Given the description of an element on the screen output the (x, y) to click on. 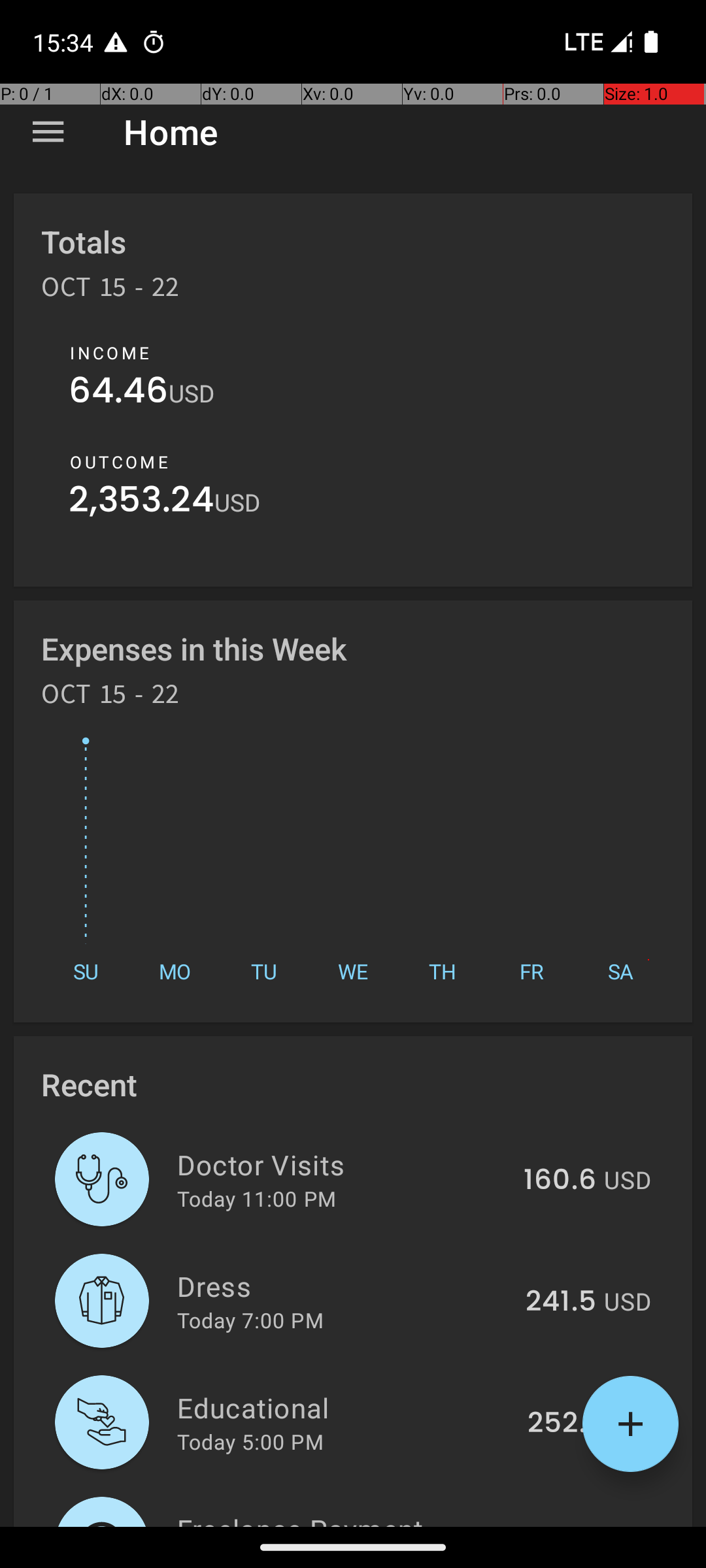
64.46 Element type: android.widget.TextView (118, 393)
2,353.24 Element type: android.widget.TextView (141, 502)
Doctor Visits Element type: android.widget.TextView (342, 1164)
Today 11:00 PM Element type: android.widget.TextView (256, 1198)
160.6 Element type: android.widget.TextView (559, 1180)
Dress Element type: android.widget.TextView (343, 1285)
Today 7:00 PM Element type: android.widget.TextView (250, 1320)
241.5 Element type: android.widget.TextView (560, 1301)
Educational Element type: android.widget.TextView (344, 1407)
Today 5:00 PM Element type: android.widget.TextView (250, 1441)
252.1 Element type: android.widget.TextView (561, 1423)
Freelance Payment Element type: android.widget.TextView (338, 1518)
